Given the description of an element on the screen output the (x, y) to click on. 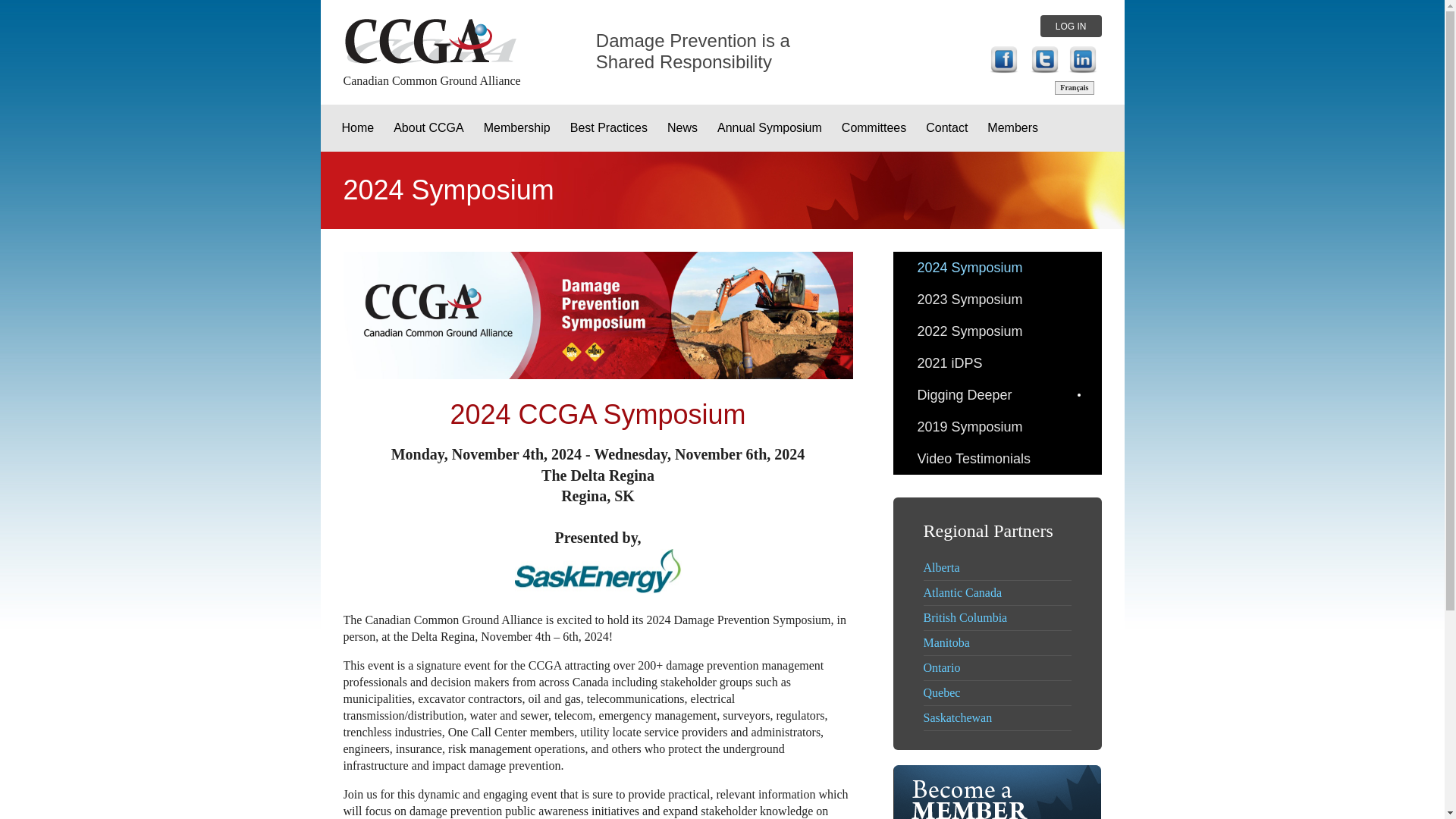
Annual Symposium (769, 127)
Best Practices (609, 127)
Home (357, 127)
News (682, 127)
Membership (517, 127)
Contact (945, 127)
5 (1081, 59)
Committees (873, 127)
Home (357, 127)
Membership (517, 127)
About CCGA (428, 127)
Members (1012, 127)
Best Practices (609, 127)
About CCGA (428, 127)
News (682, 127)
